Given the description of an element on the screen output the (x, y) to click on. 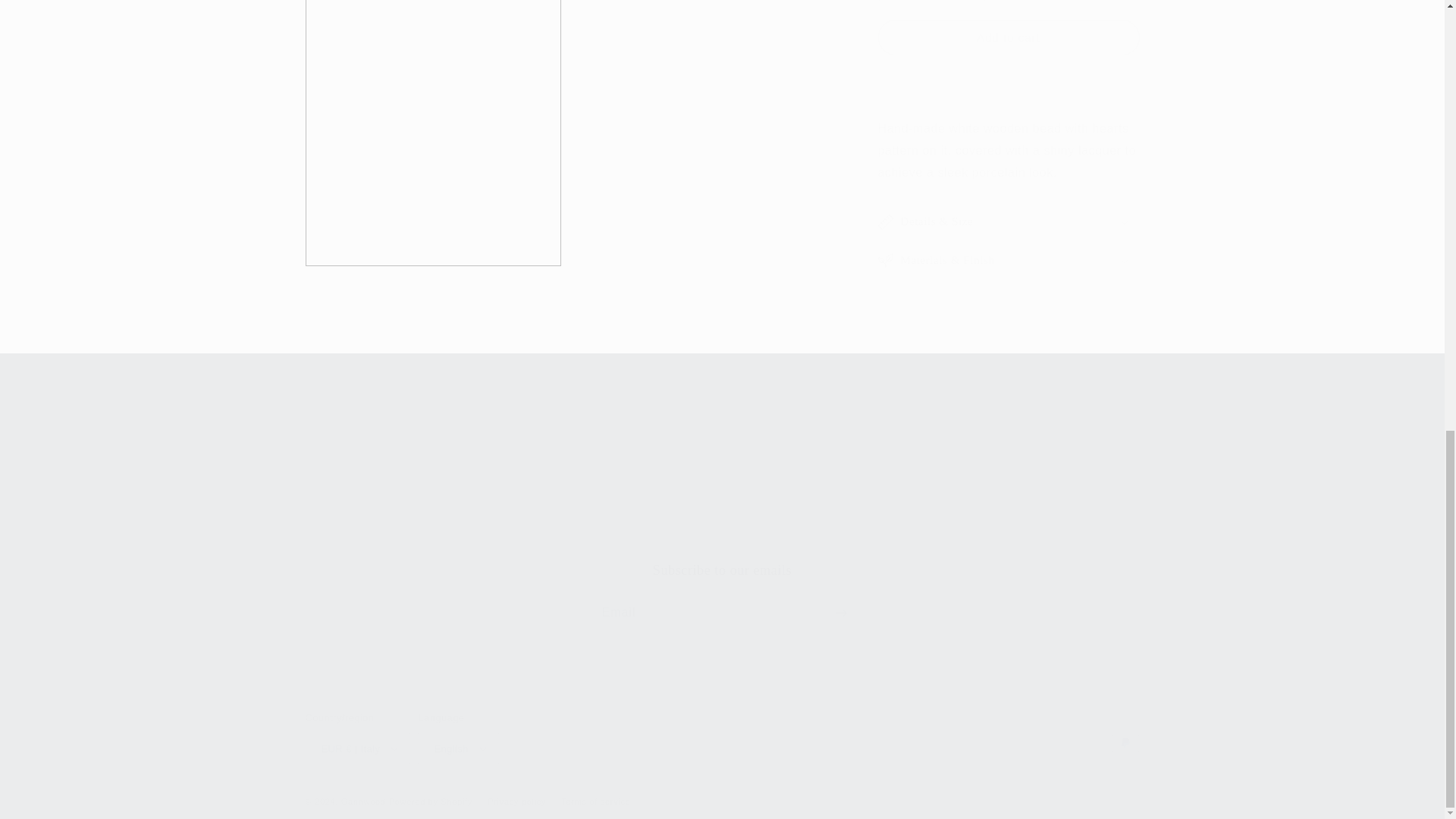
Open media 2 in modal (505, 340)
